Given the description of an element on the screen output the (x, y) to click on. 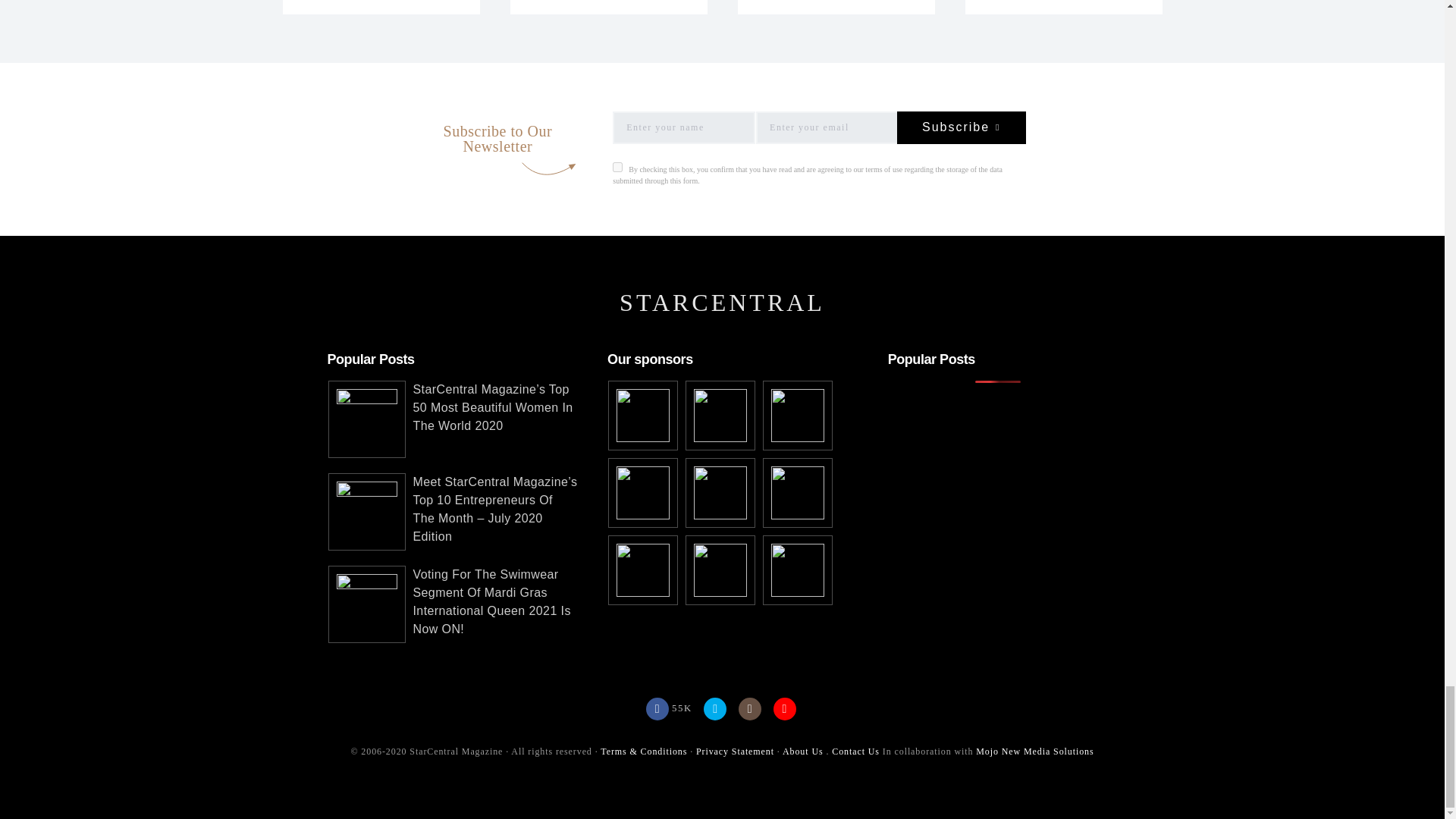
on (617, 166)
